Given the description of an element on the screen output the (x, y) to click on. 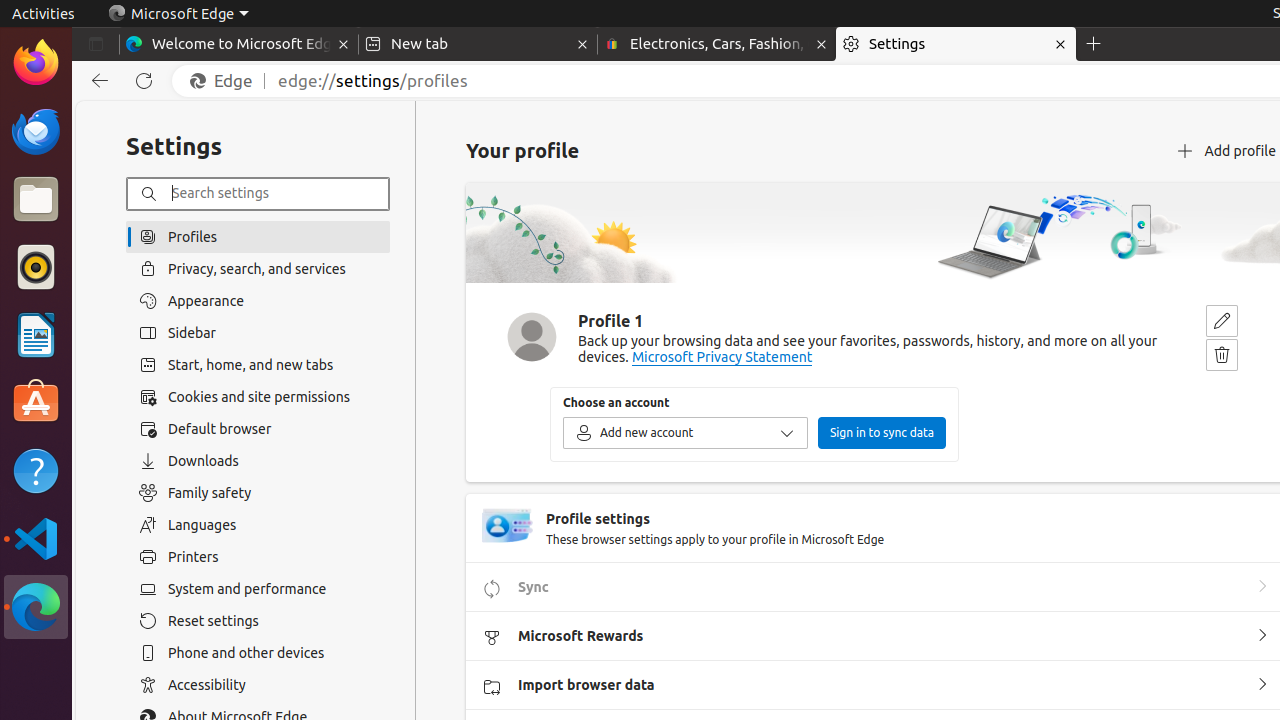
Help Element type: push-button (36, 470)
Visual Studio Code Element type: push-button (36, 538)
Thunderbird Mail Element type: push-button (36, 131)
Default browser Element type: tree-item (258, 429)
Sidebar Element type: tree-item (258, 333)
